Given the description of an element on the screen output the (x, y) to click on. 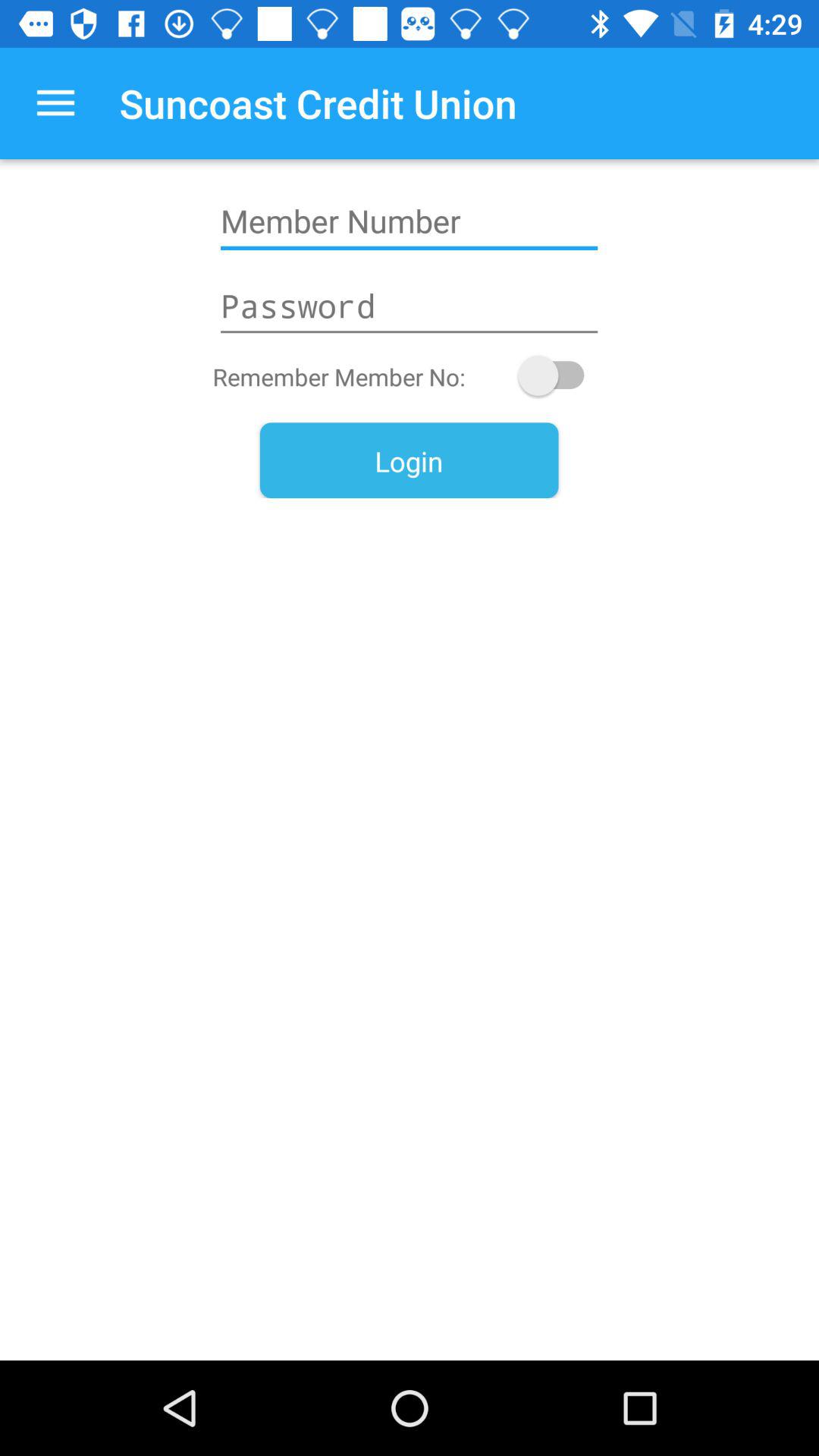
click the login (408, 460)
